Given the description of an element on the screen output the (x, y) to click on. 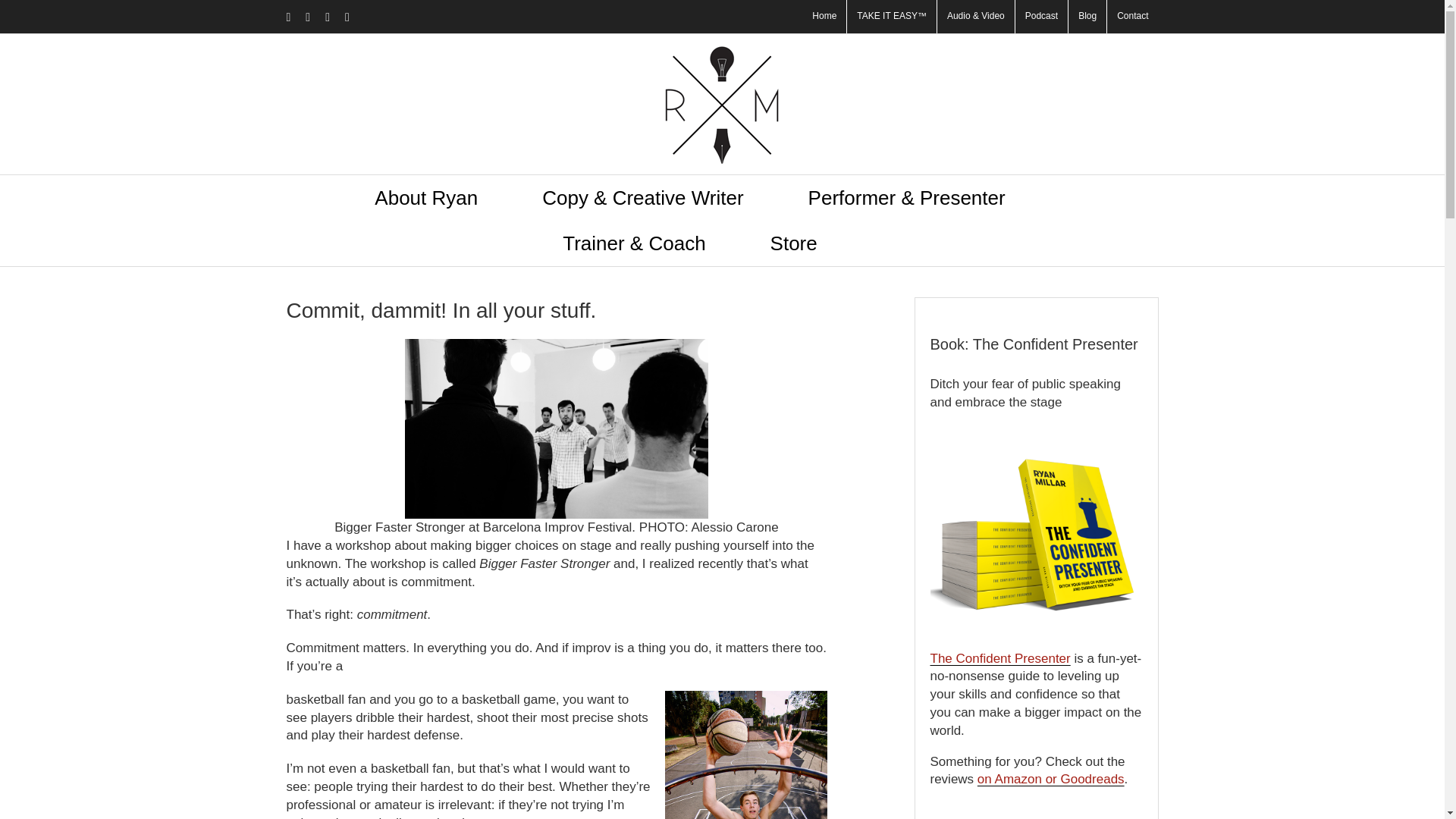
The Confident Presenter (1000, 658)
on Amazon or Goodreads (1050, 779)
Store (793, 243)
About Ryan (425, 197)
Podcast (1040, 16)
Blog (1087, 16)
Contact (1131, 16)
Home (823, 16)
